Given the description of an element on the screen output the (x, y) to click on. 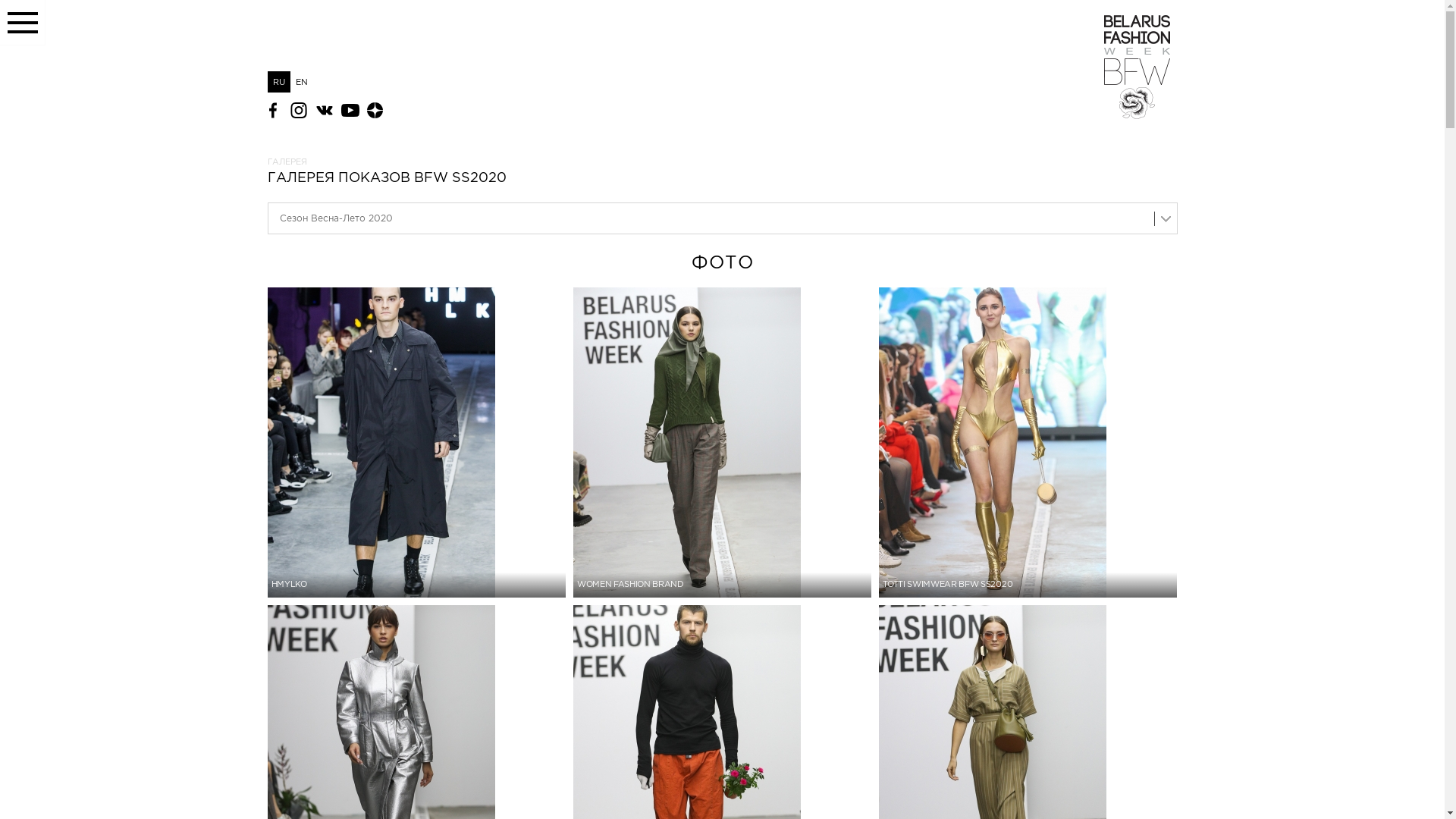
TOTTI SWIMWEAR BFW SS2020 Element type: text (1027, 442)
WOMEN FASHION BRAND Element type: text (722, 442)
RU Element type: text (277, 81)
HMYLKO Element type: text (415, 442)
EN Element type: text (300, 81)
